Given the description of an element on the screen output the (x, y) to click on. 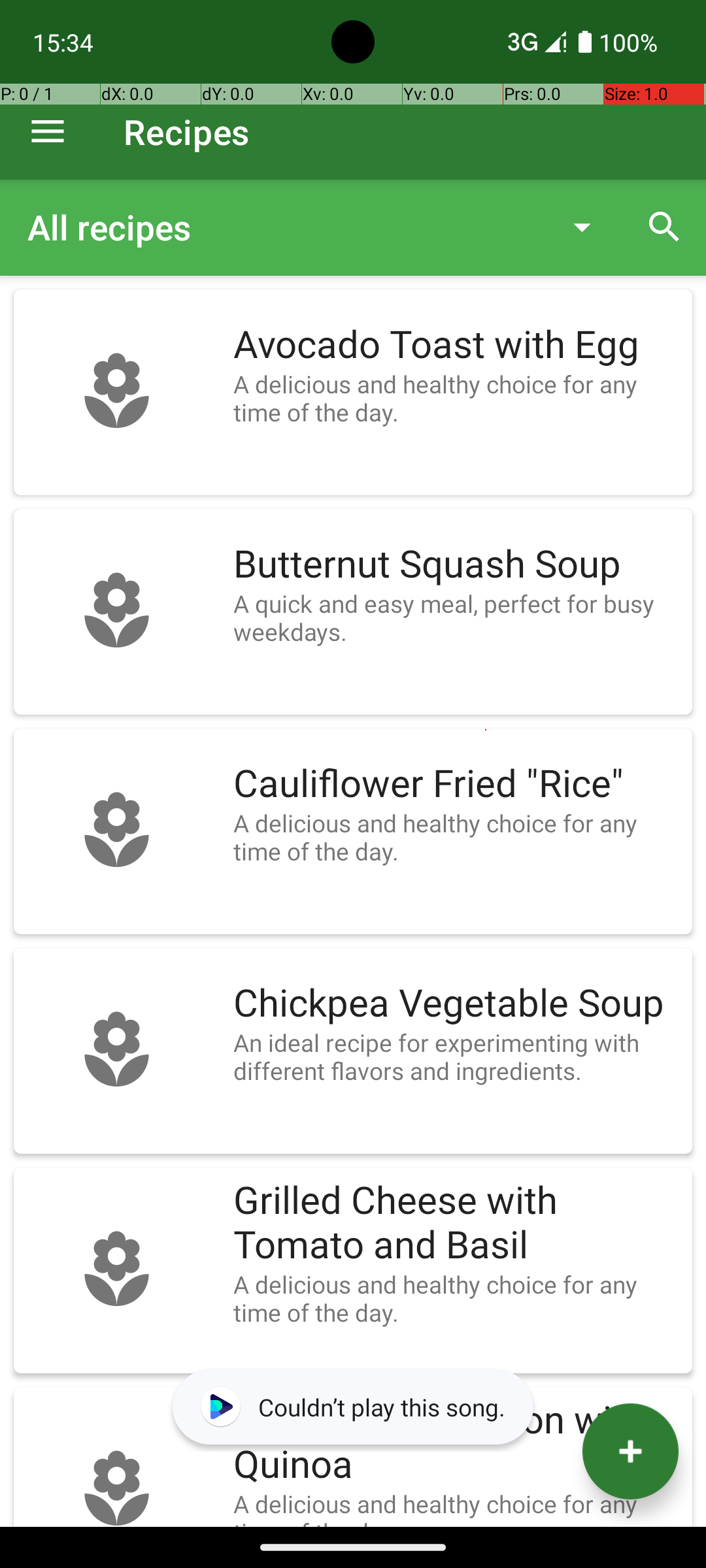
Cauliflower Fried "Rice" Element type: android.widget.TextView (455, 783)
Chickpea Vegetable Soup Element type: android.widget.TextView (455, 1003)
Grilled Cheese with Tomato and Basil Element type: android.widget.TextView (455, 1222)
Pan-Seared Salmon with Quinoa Element type: android.widget.TextView (455, 1442)
